Given the description of an element on the screen output the (x, y) to click on. 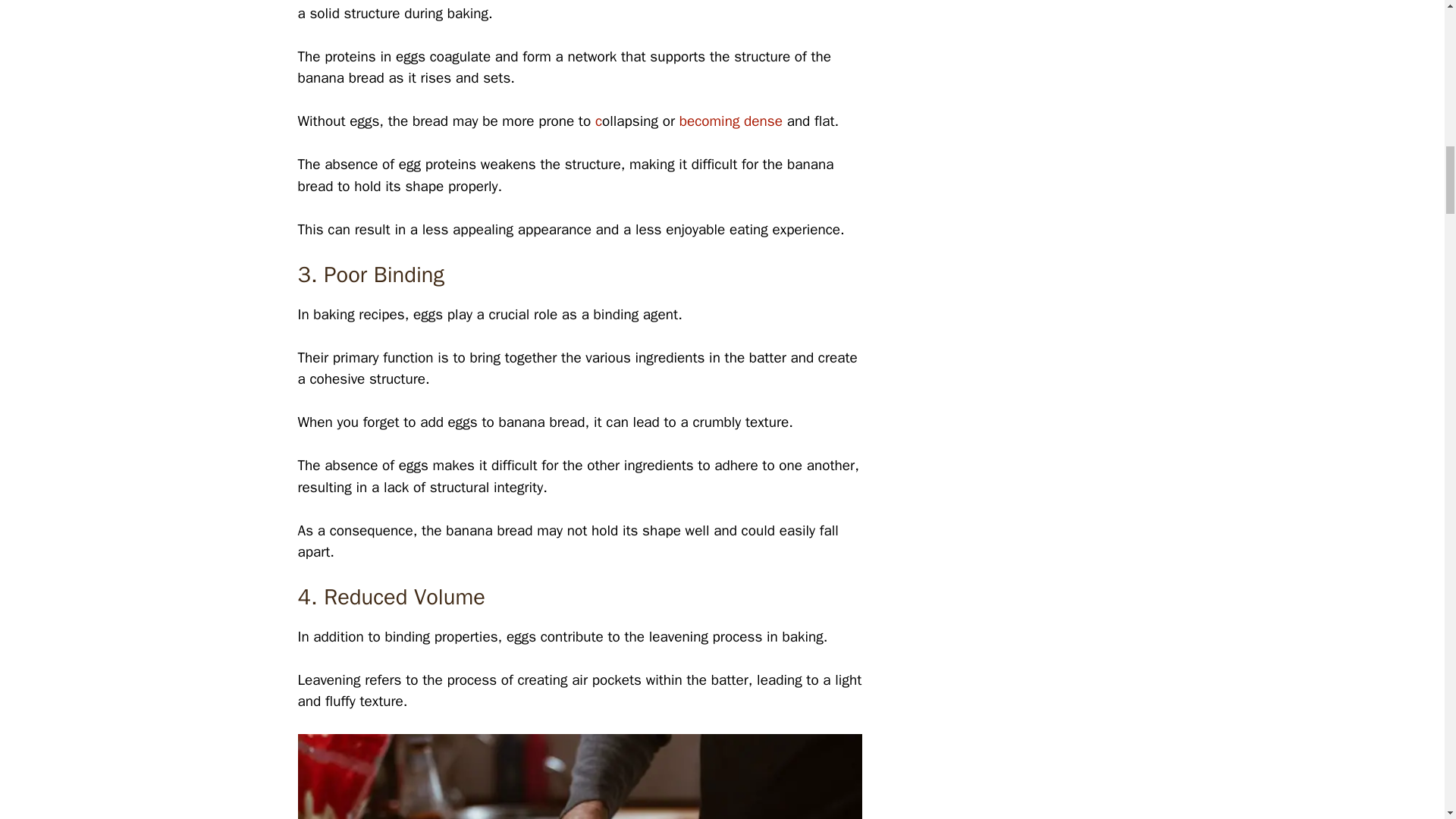
becoming dense (731, 121)
c (598, 121)
